Given the description of an element on the screen output the (x, y) to click on. 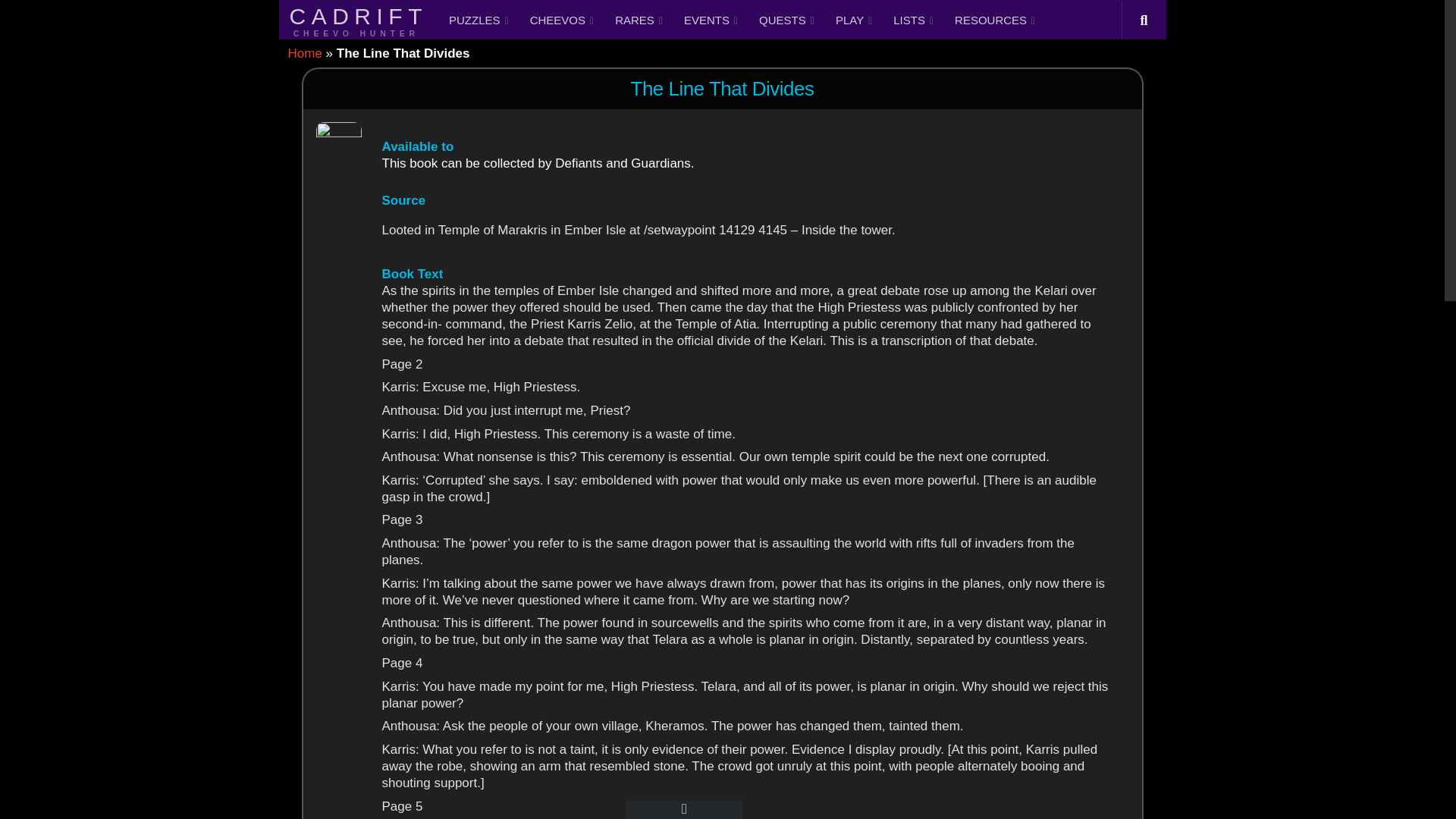
CHEEVOS (561, 20)
CADRIFT (359, 19)
PUZZLES (478, 20)
